Given the description of an element on the screen output the (x, y) to click on. 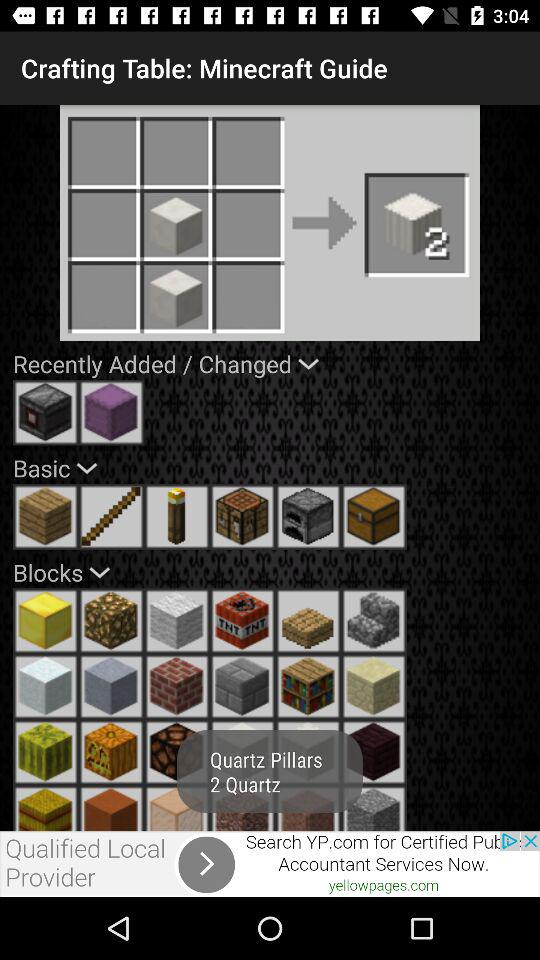
pick this block (373, 686)
